Given the description of an element on the screen output the (x, y) to click on. 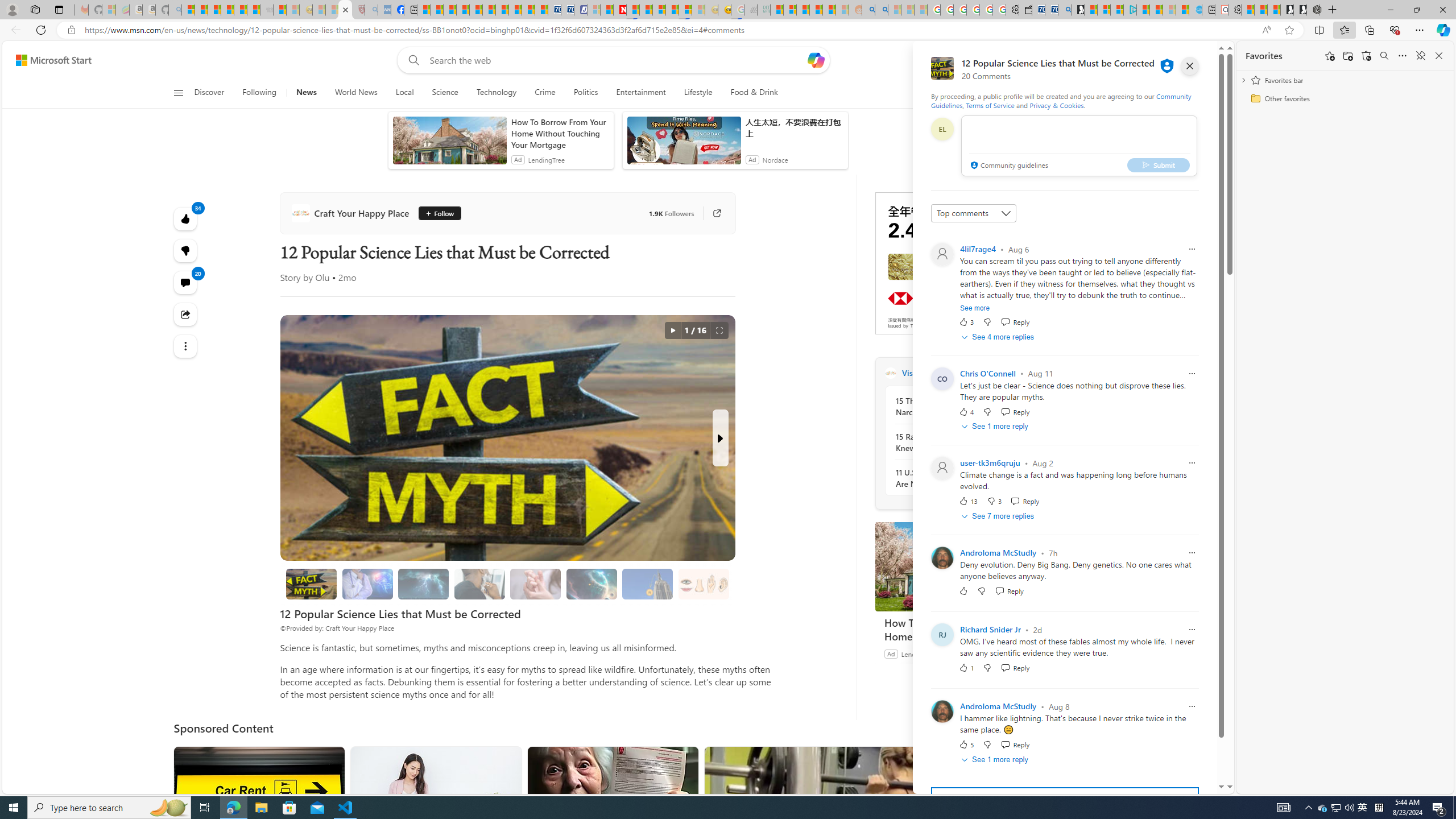
Combat Siege - Sleeping (266, 9)
34 Like (184, 218)
Brain Myths (367, 583)
Restore deleted favorites (1366, 55)
